Given the description of an element on the screen output the (x, y) to click on. 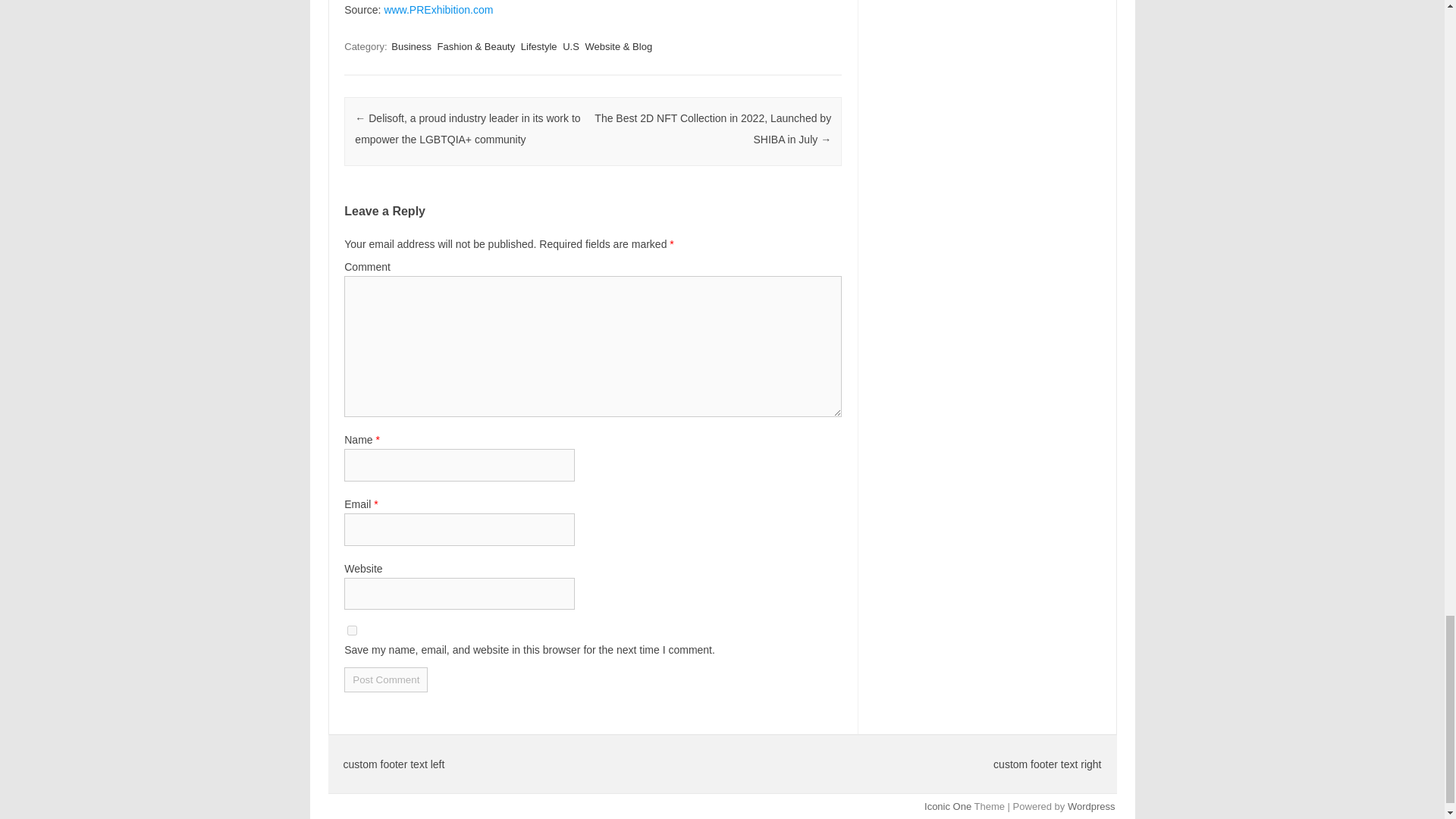
Post Comment (385, 679)
Business (411, 46)
Post Comment (385, 679)
yes (351, 630)
U.S (570, 46)
Lifestyle (539, 46)
www.PRExhibition.com (438, 9)
